Given the description of an element on the screen output the (x, y) to click on. 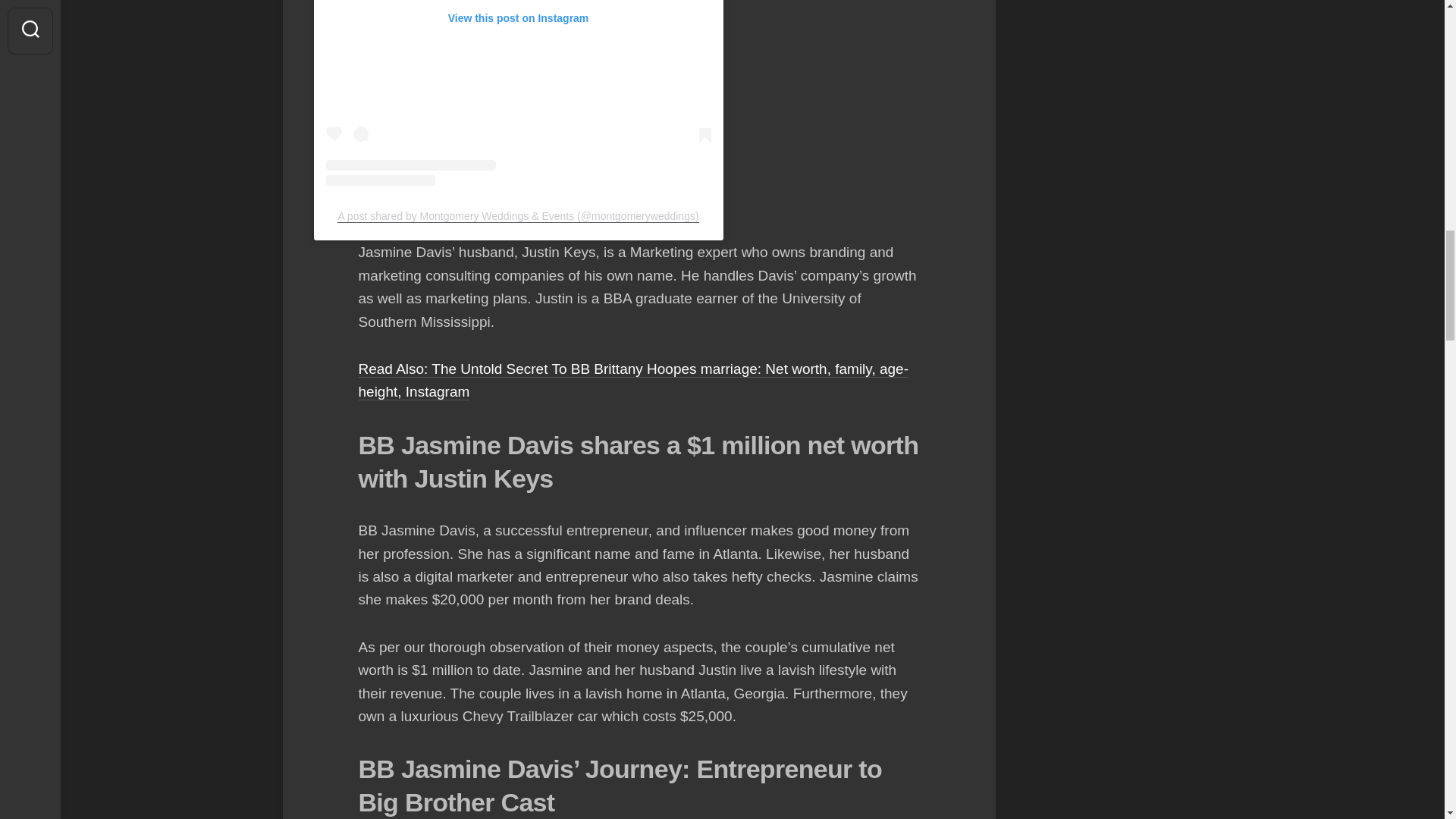
View this post on Instagram (518, 93)
